Given the description of an element on the screen output the (x, y) to click on. 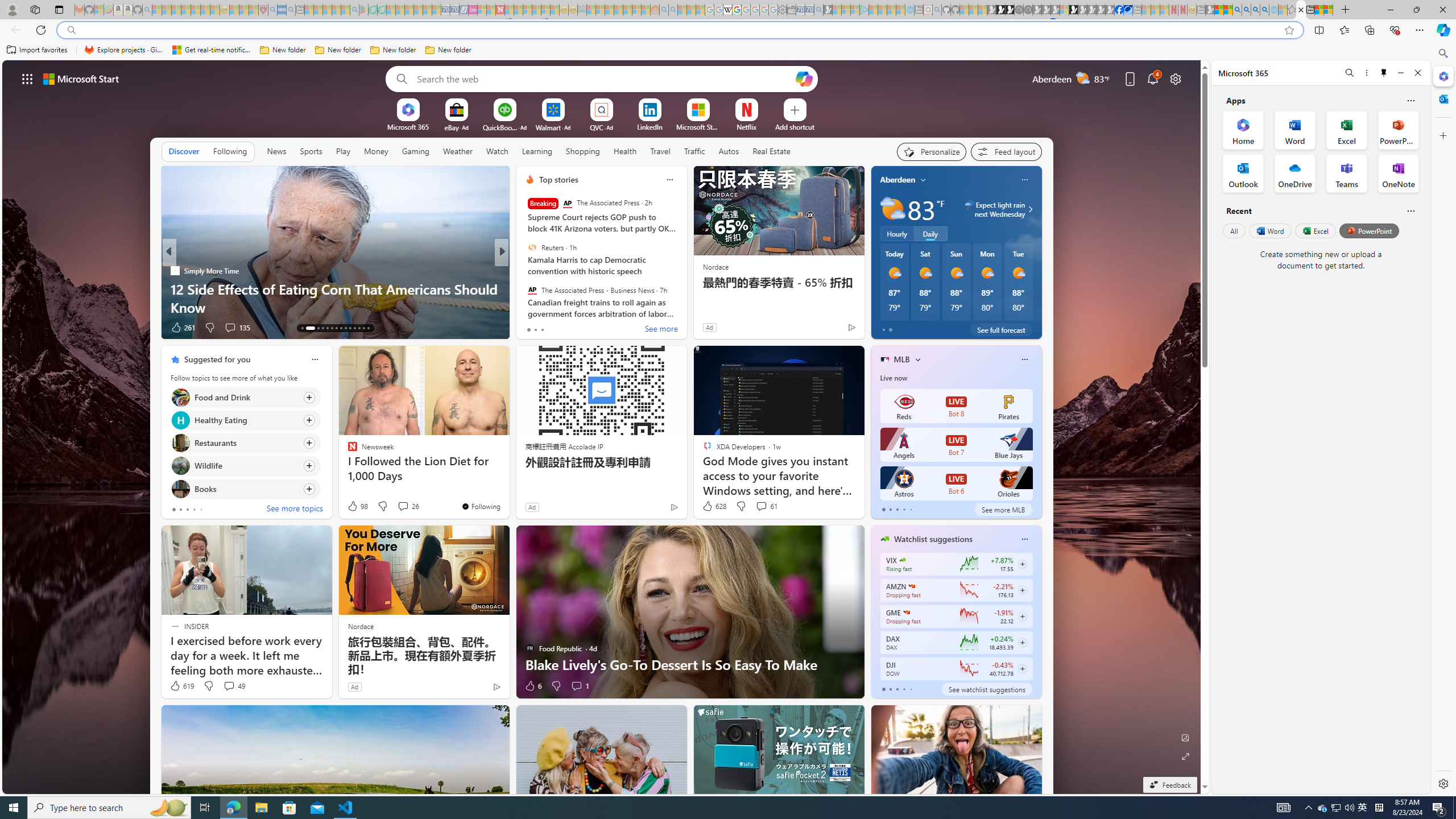
CBOE Market Volatility Index (901, 559)
Settings - Sleeping (782, 9)
View comments 13 Comment (580, 327)
New folder (448, 49)
View comments 84 Comment (585, 327)
AutomationID: tab-18 (331, 328)
View comments 61 Comment (766, 505)
Click to follow topic Restaurants (245, 442)
Food and Drink (180, 397)
